Given the description of an element on the screen output the (x, y) to click on. 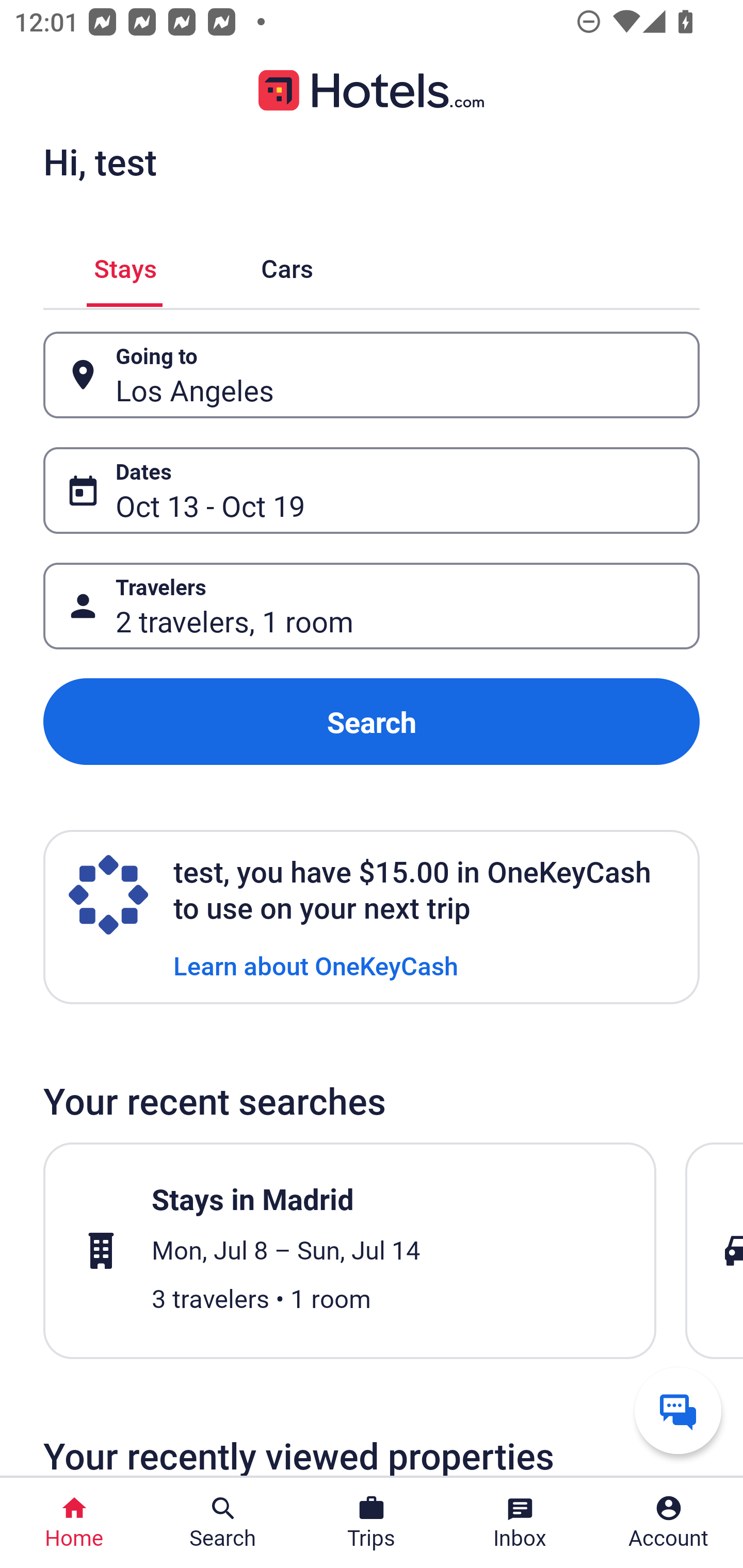
Hi, test (99, 161)
Cars (286, 265)
Going to Button Los Angeles (371, 375)
Dates Button Oct 13 - Oct 19 (371, 489)
Travelers Button 2 travelers, 1 room (371, 605)
Search (371, 721)
Learn about OneKeyCash Learn about OneKeyCash Link (315, 964)
Get help from a virtual agent (677, 1410)
Search Search Button (222, 1522)
Trips Trips Button (371, 1522)
Inbox Inbox Button (519, 1522)
Account Profile. Button (668, 1522)
